Given the description of an element on the screen output the (x, y) to click on. 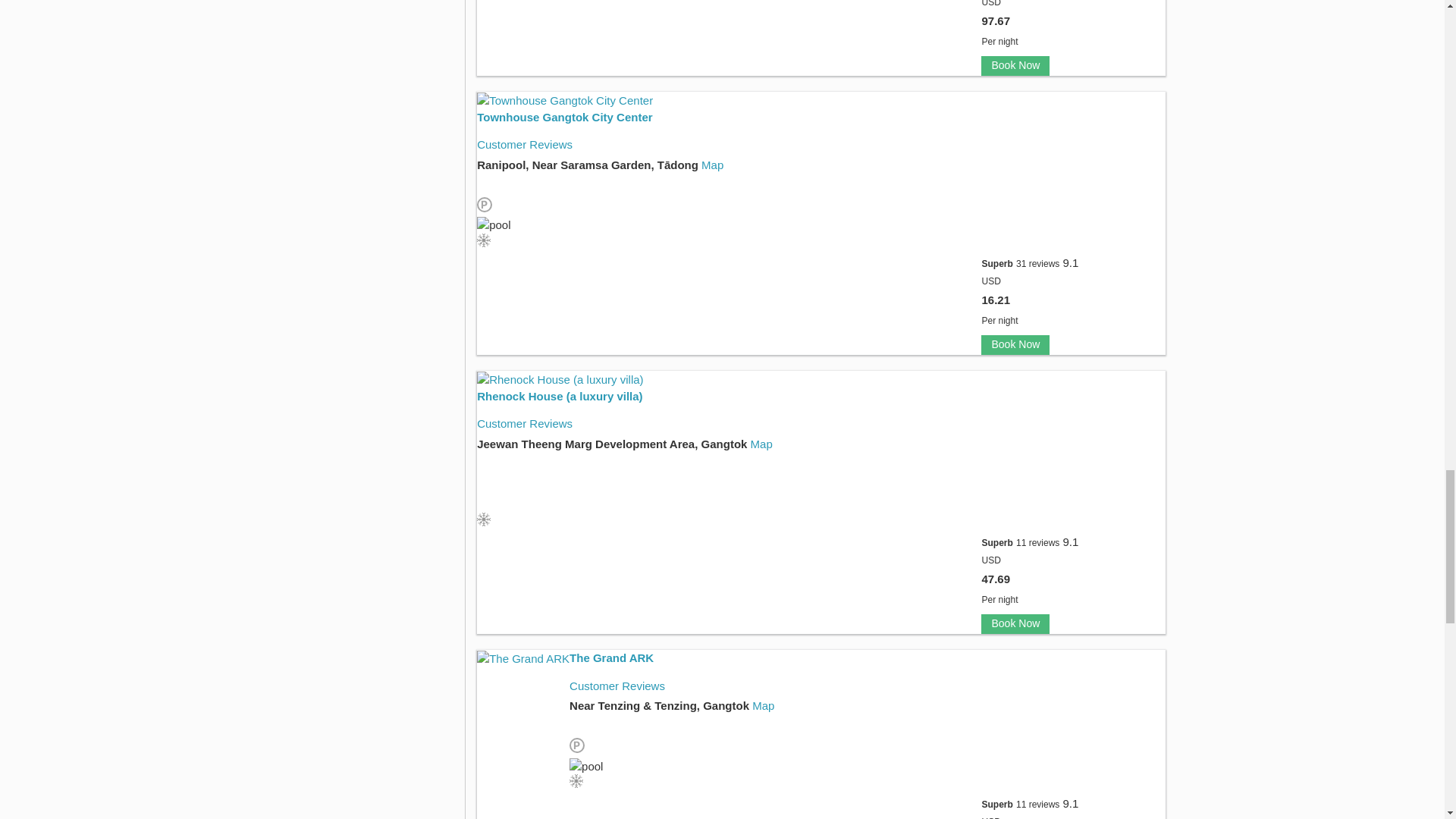
Created with Fabric.js 5.2.4 (483, 240)
Created with Fabric.js 5.2.4 (483, 519)
Created with Fabric.js 5.2.4 (576, 780)
